Given the description of an element on the screen output the (x, y) to click on. 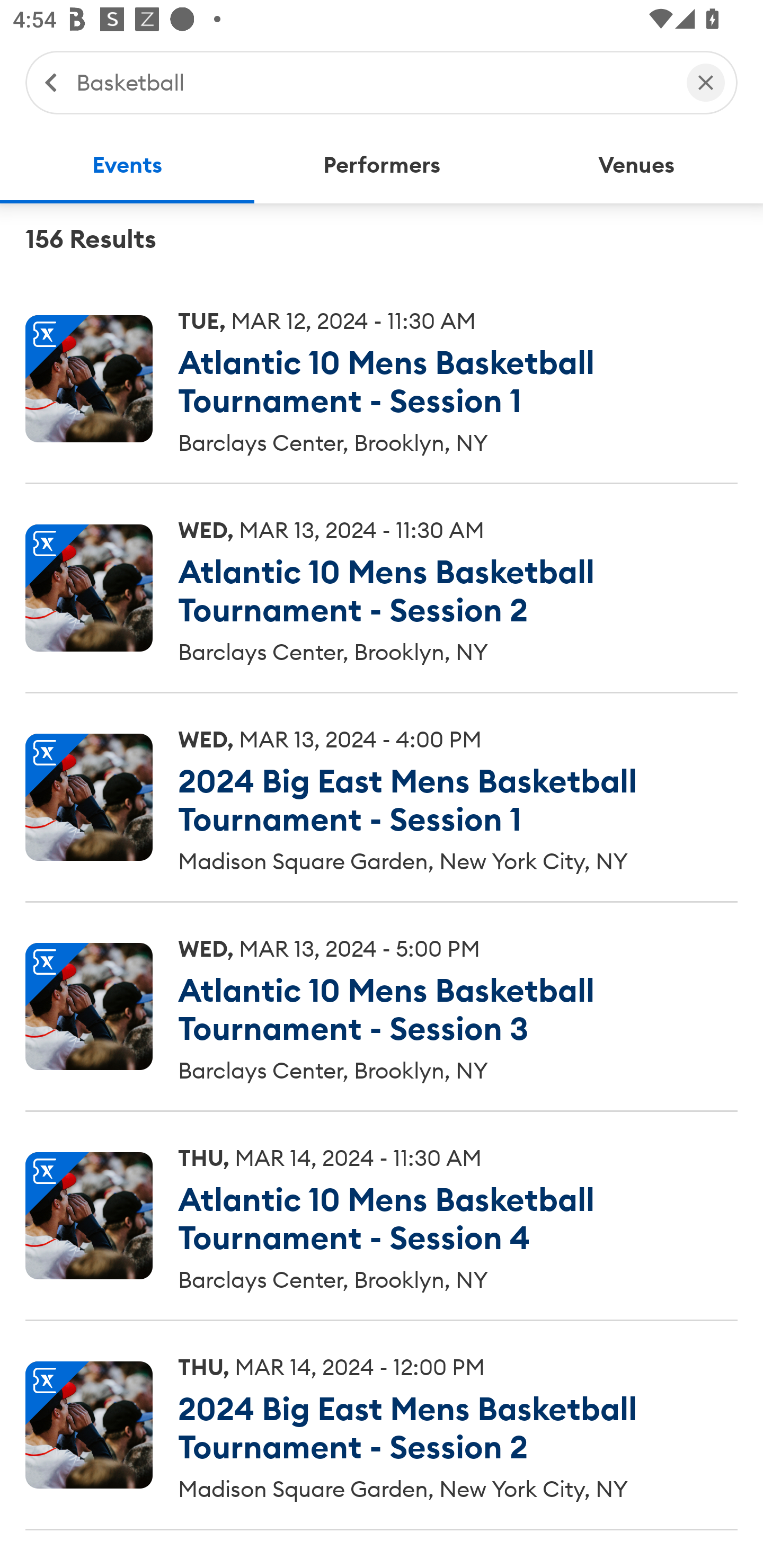
Basketball (371, 81)
Clear Search (705, 81)
Performers (381, 165)
Venues (635, 165)
